Given the description of an element on the screen output the (x, y) to click on. 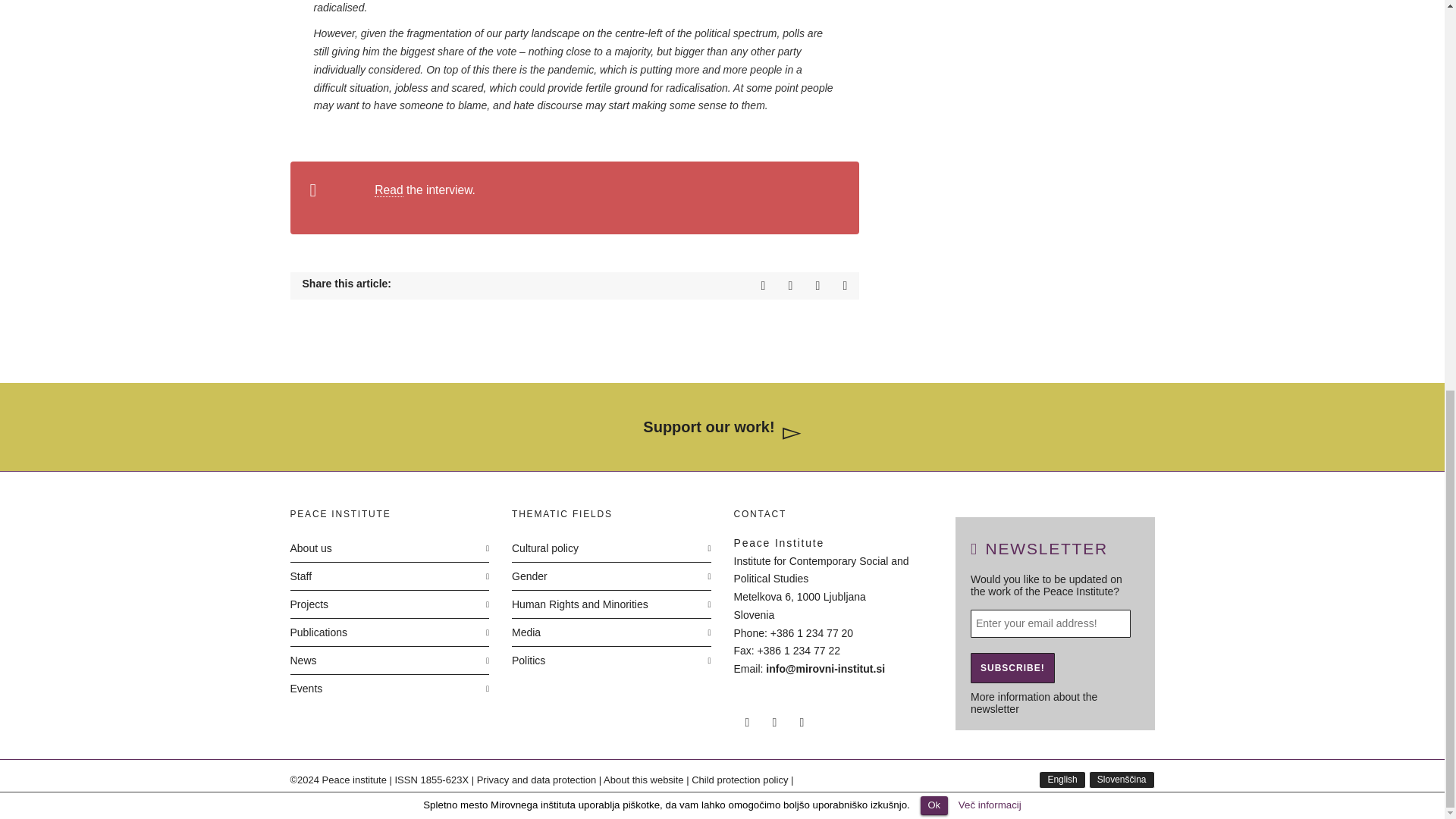
Subscribe! (1012, 667)
About this website (644, 779)
Enter your email address! (1051, 623)
Privacy and data protection (536, 779)
